Given the description of an element on the screen output the (x, y) to click on. 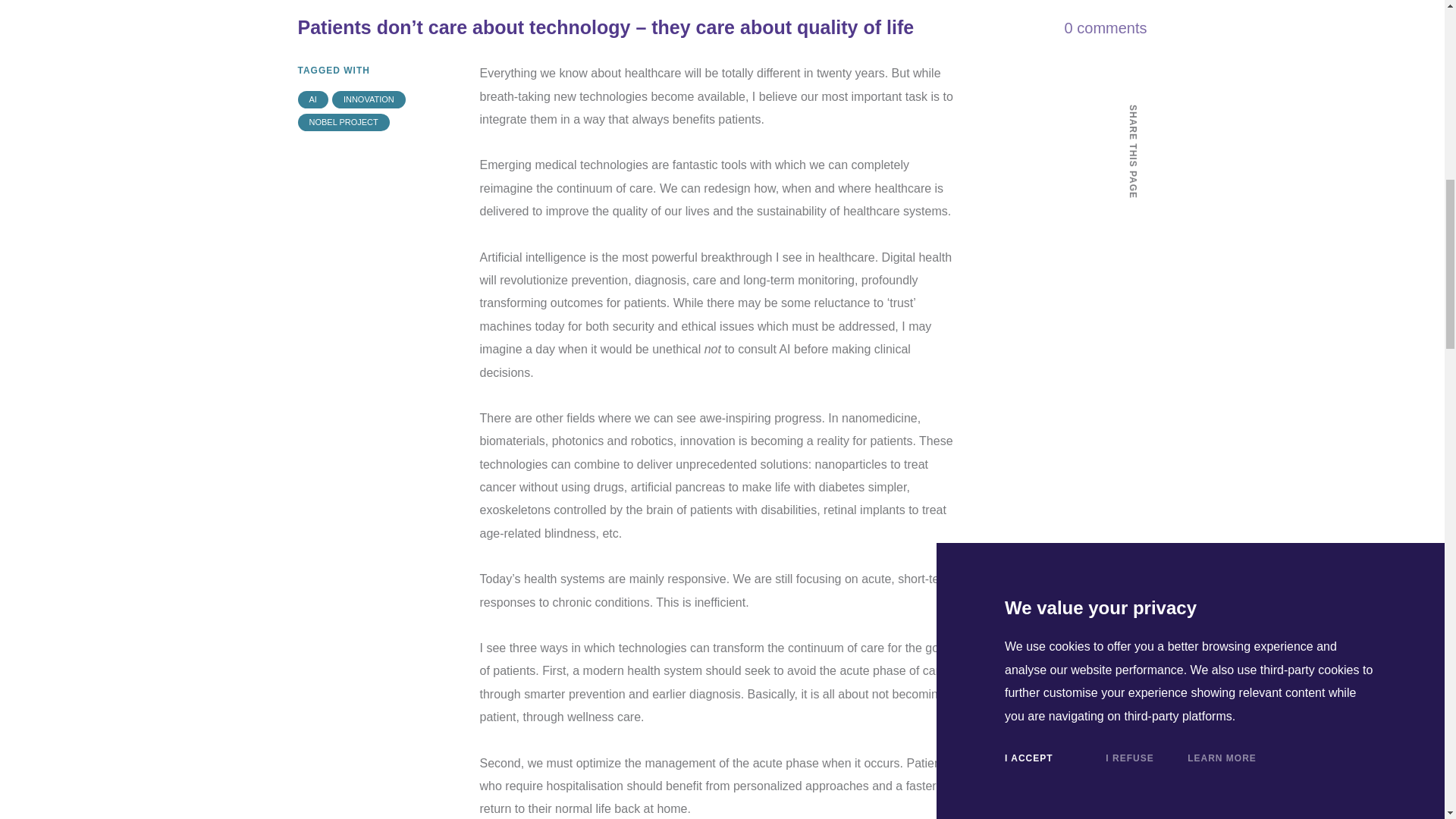
Share on Twitter (1131, 252)
INNOVATION (368, 99)
Share on Email (1131, 319)
Share on Facebook (1131, 218)
AI (312, 99)
Share on Linkedin (1131, 286)
NOBEL PROJECT (342, 122)
